Given the description of an element on the screen output the (x, y) to click on. 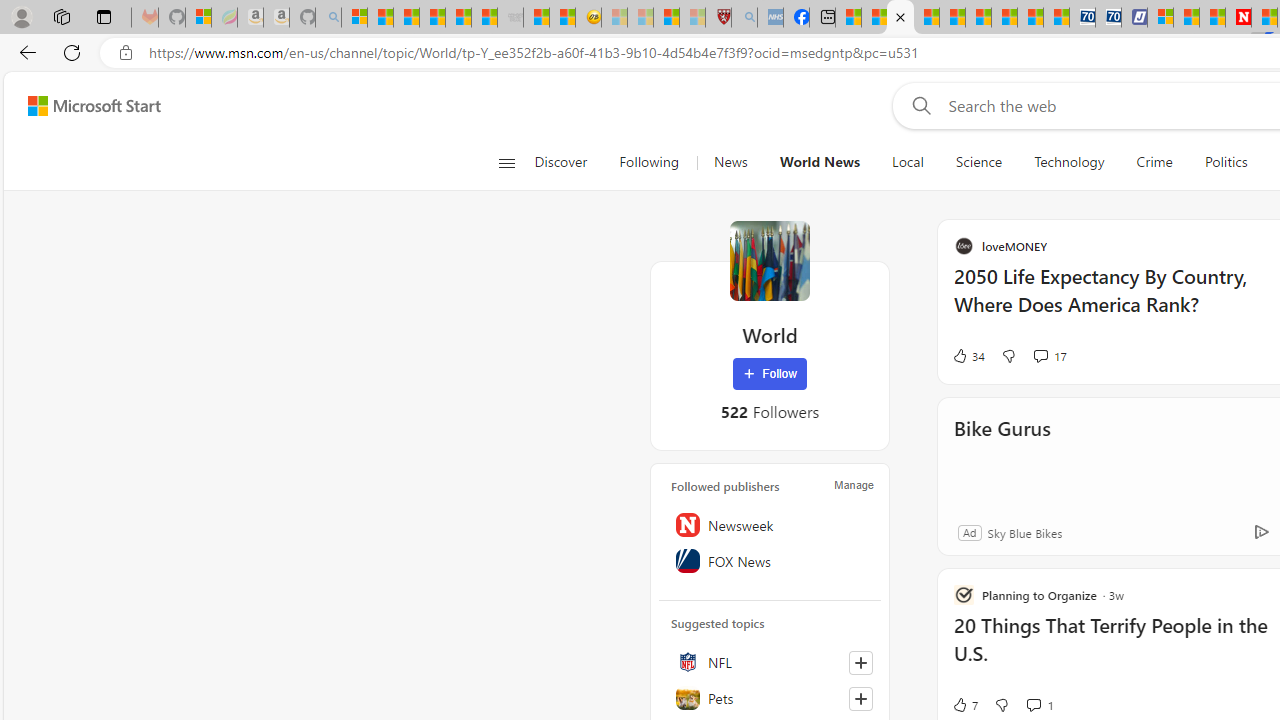
Cheap Hotels - Save70.com (1108, 17)
New Report Confirms 2023 Was Record Hot | Watch (458, 17)
